Given the description of an element on the screen output the (x, y) to click on. 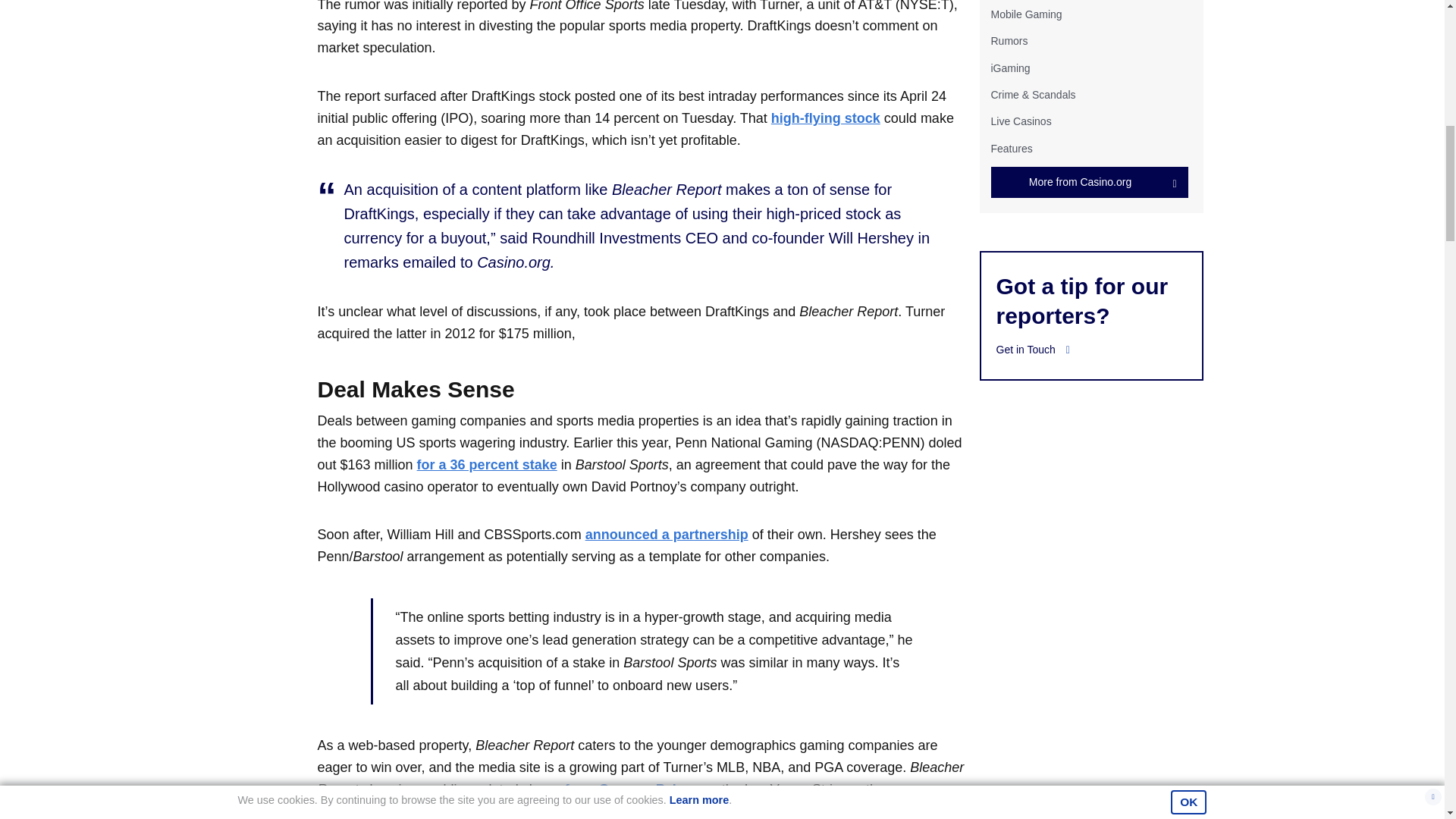
announced a partnership (666, 534)
high-flying stock (825, 118)
from Caesars Palace (631, 789)
for a 36 percent stake (486, 464)
Mobile Gaming (1025, 14)
Features (1011, 148)
Live Casinos (1020, 121)
iGaming (1009, 68)
Rumors (1008, 40)
